Given the description of an element on the screen output the (x, y) to click on. 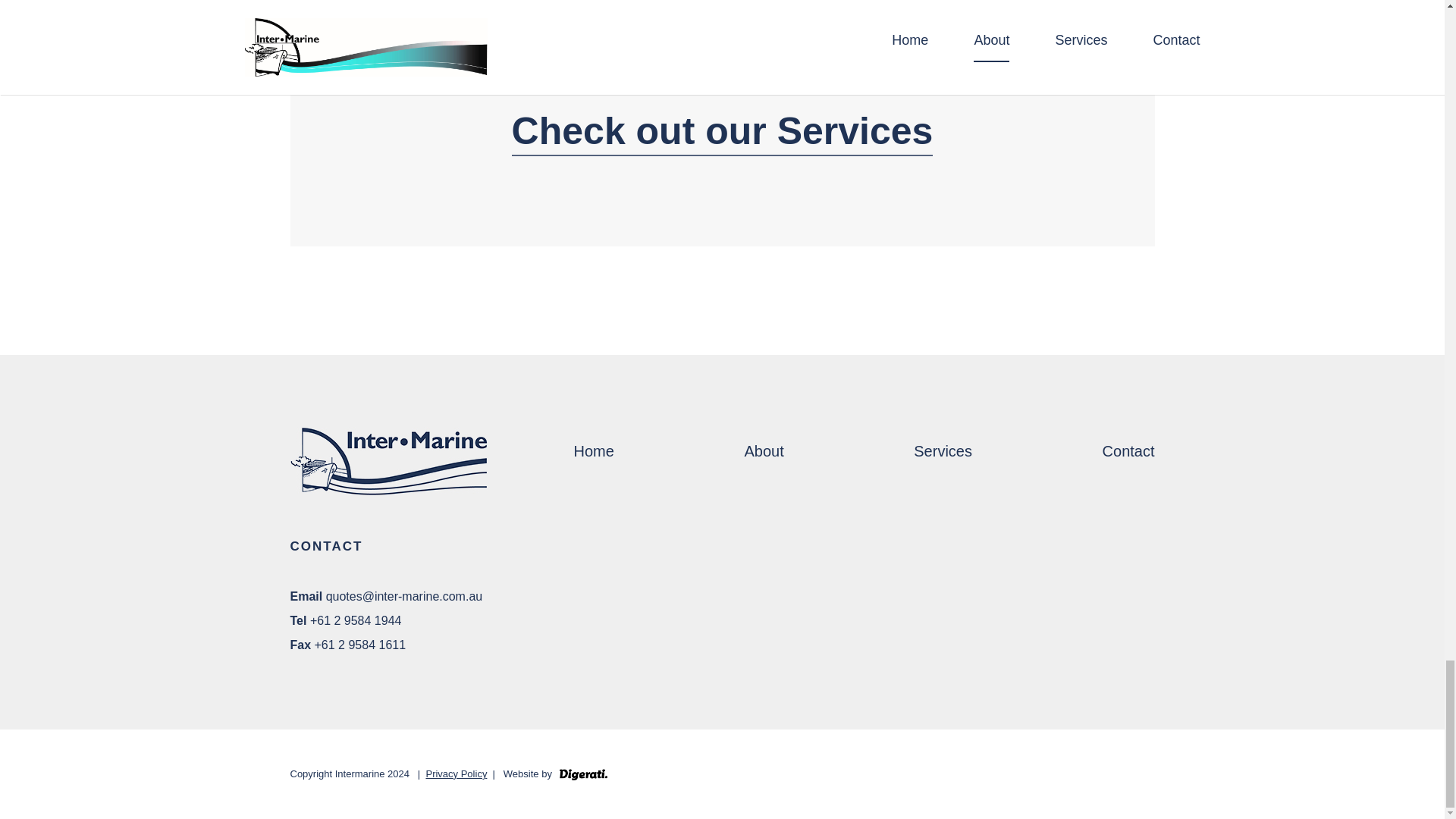
Privacy Policy (455, 773)
Contact (1128, 451)
Services (943, 451)
About (763, 451)
Check out our Services (722, 130)
Home (592, 451)
